Given the description of an element on the screen output the (x, y) to click on. 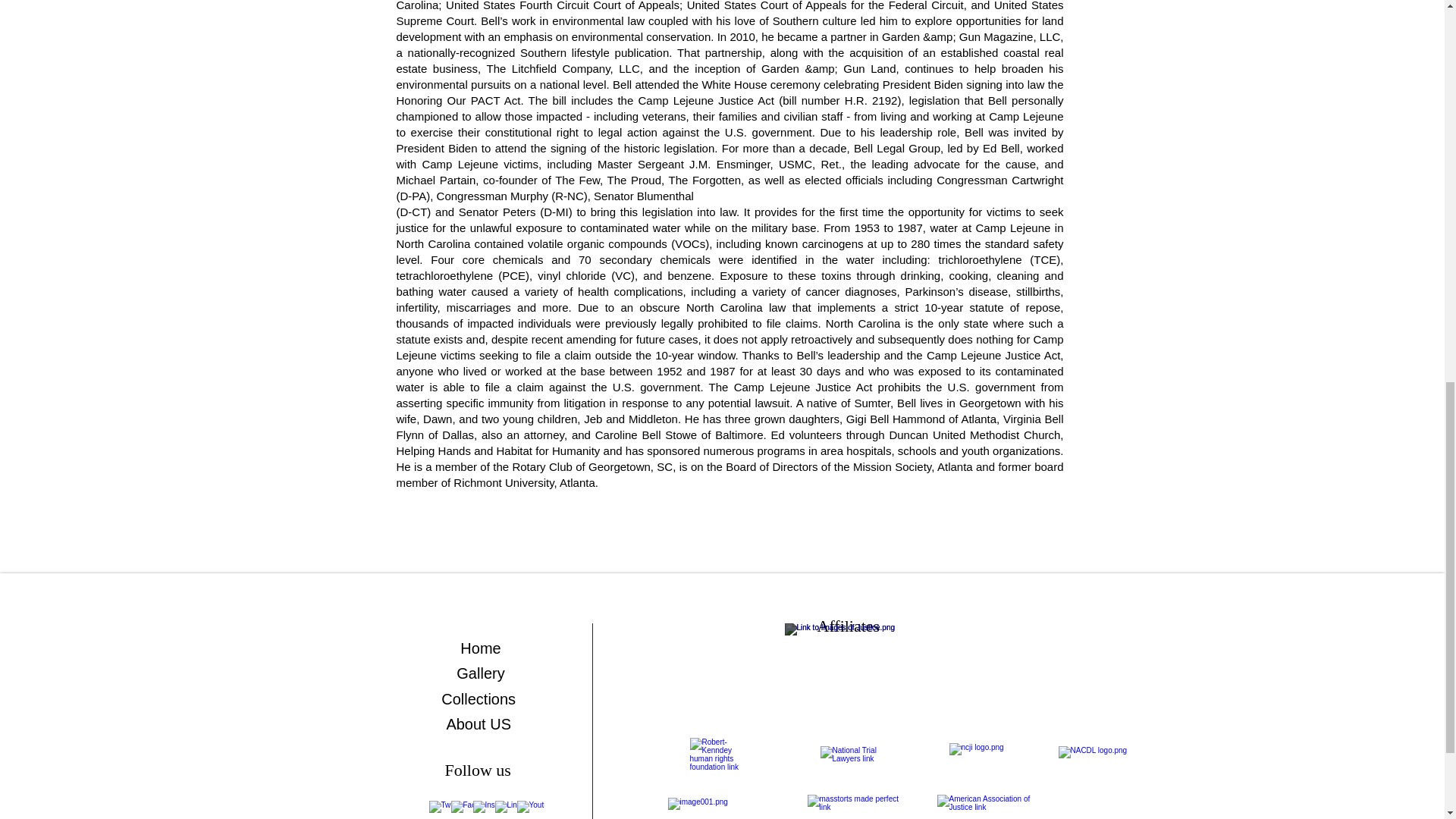
Gallery Collections  (480, 685)
About US  (480, 723)
Home (480, 647)
